Given the description of an element on the screen output the (x, y) to click on. 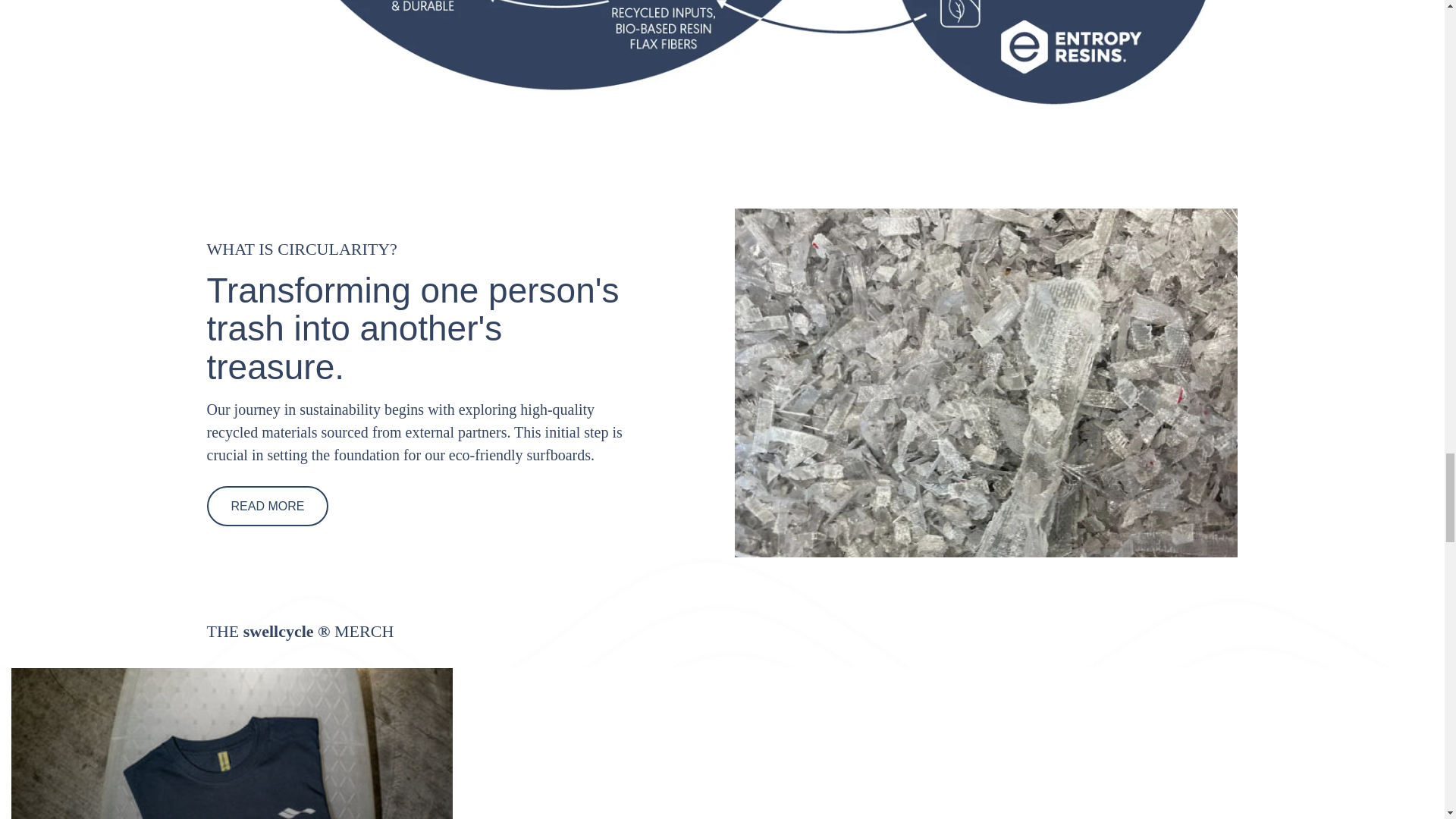
READ MORE (267, 506)
